Given the description of an element on the screen output the (x, y) to click on. 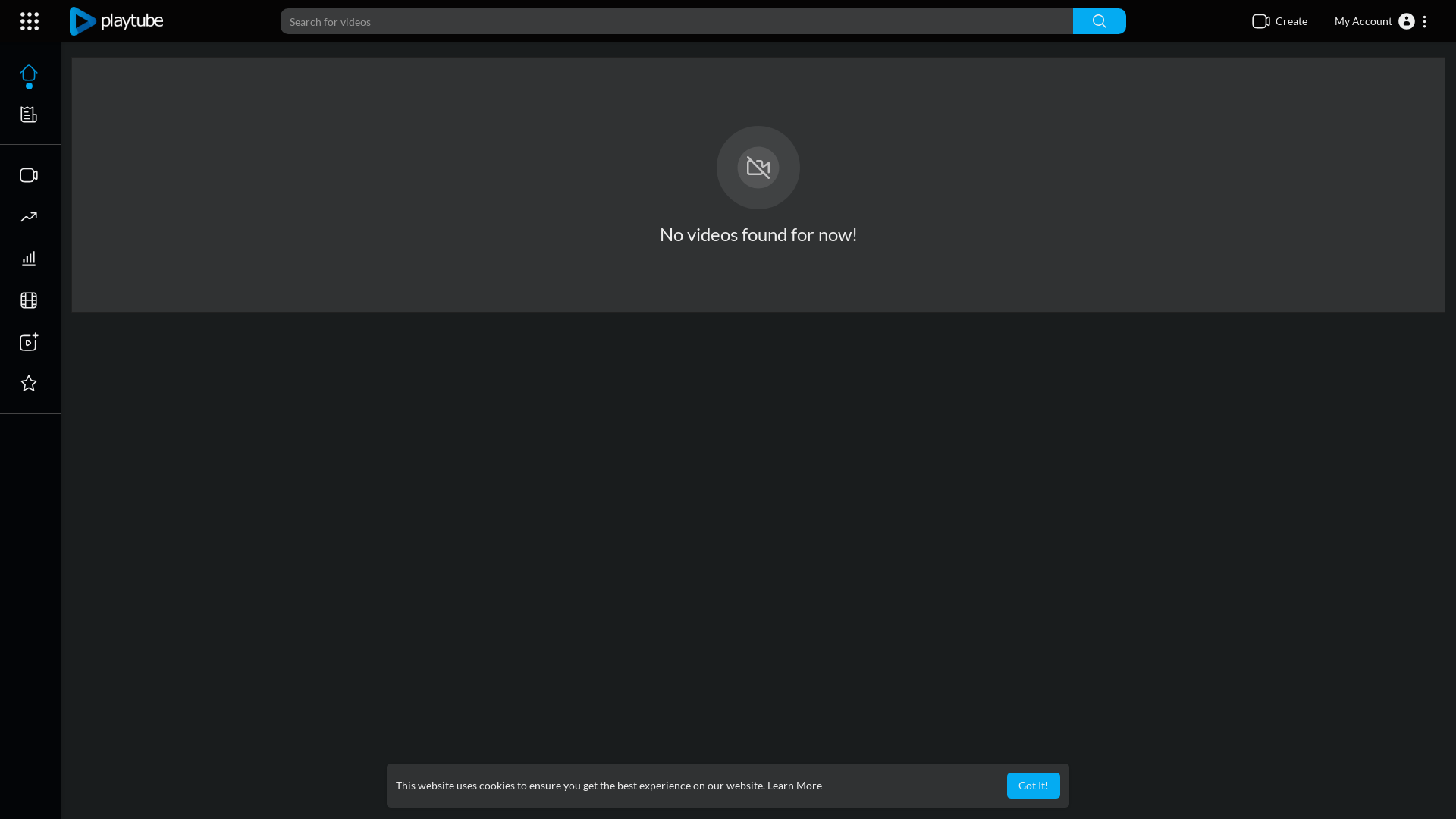
  My Account   Element type: text (1381, 20)
Got It! Element type: text (1033, 785)
  Create Element type: text (1278, 20)
Learn More Element type: text (794, 784)
